Given the description of an element on the screen output the (x, y) to click on. 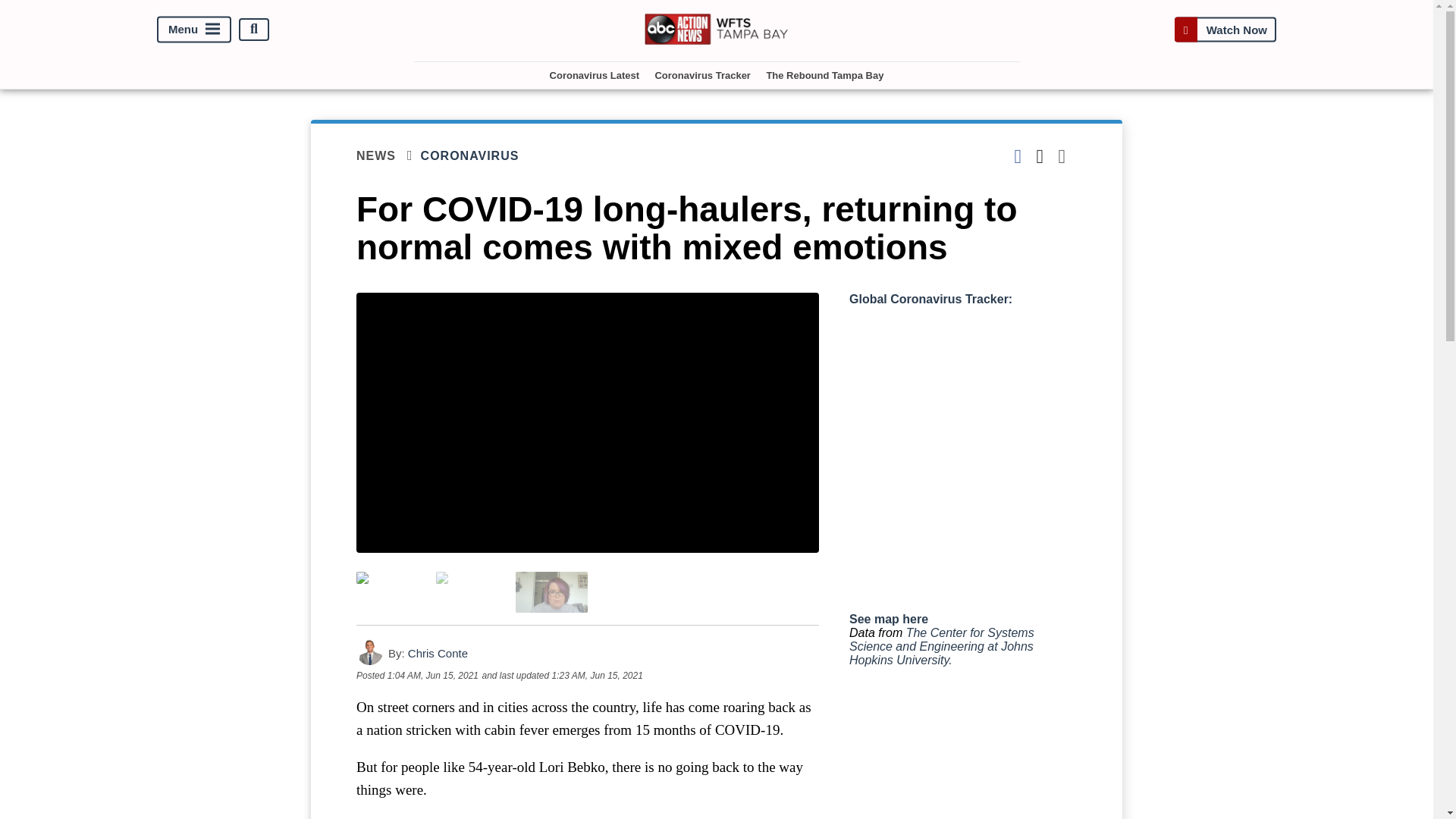
Menu (194, 28)
Watch Now (1224, 29)
